Given the description of an element on the screen output the (x, y) to click on. 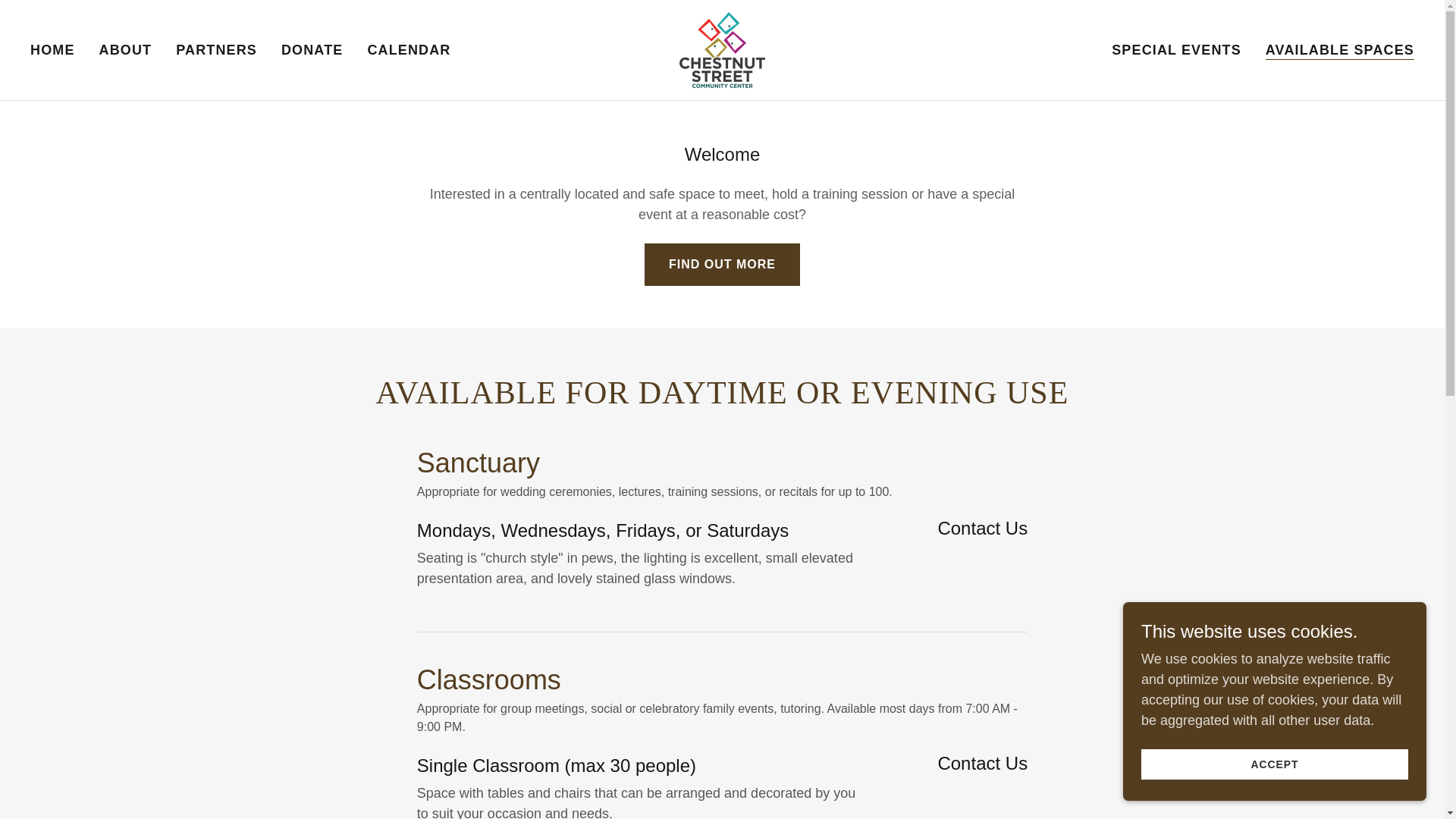
PARTNERS (216, 49)
AVAILABLE SPACES (1339, 49)
ACCEPT (1274, 764)
FIND OUT MORE (722, 264)
Chestnut Street Community Center (722, 48)
ABOUT (125, 49)
SPECIAL EVENTS (1176, 49)
CALENDAR (408, 49)
HOME (53, 49)
DONATE (311, 49)
